Given the description of an element on the screen output the (x, y) to click on. 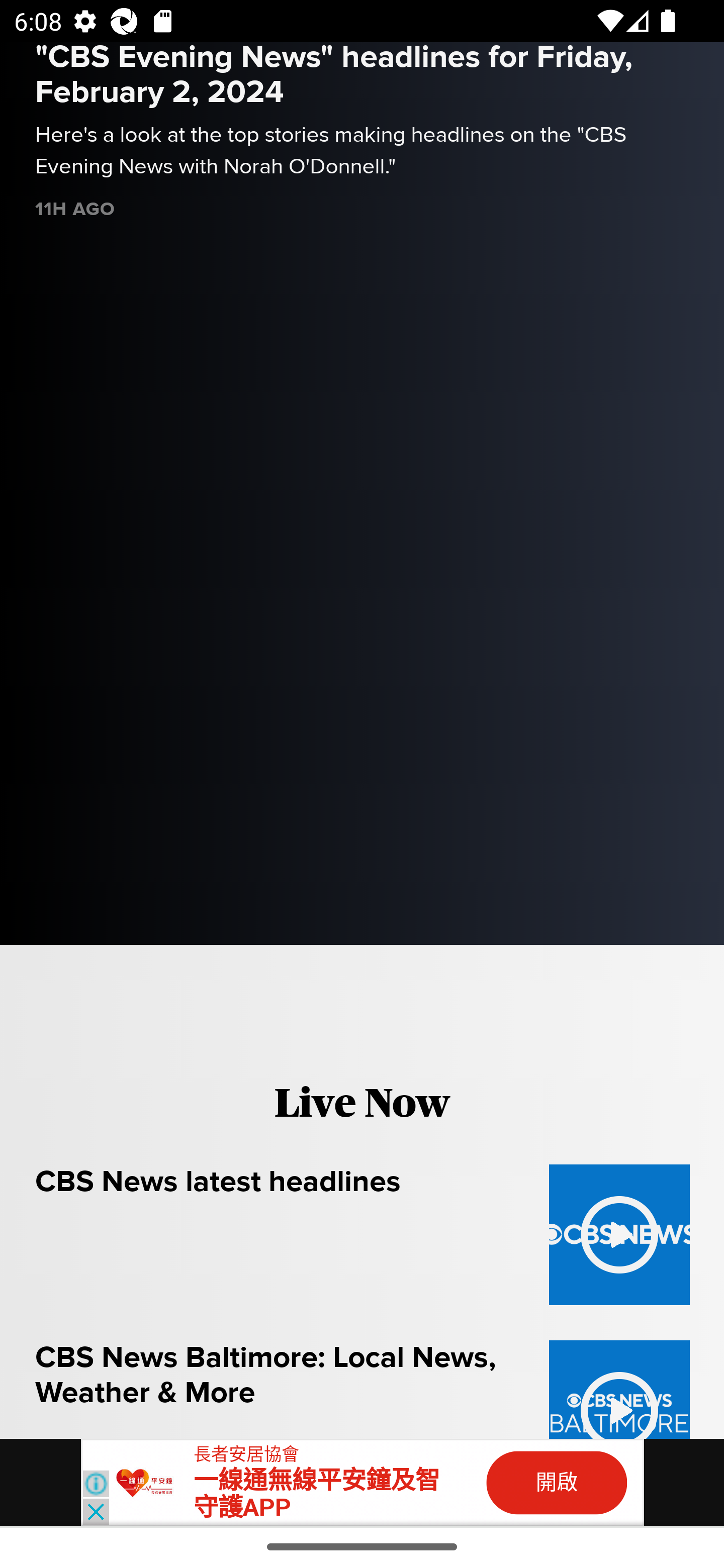
長者安居協會 (246, 1454)
開啟 (556, 1482)
一線通無線平安鐘及智 守護APP 一線通無線平安鐘及智 守護APP (317, 1493)
